Given the description of an element on the screen output the (x, y) to click on. 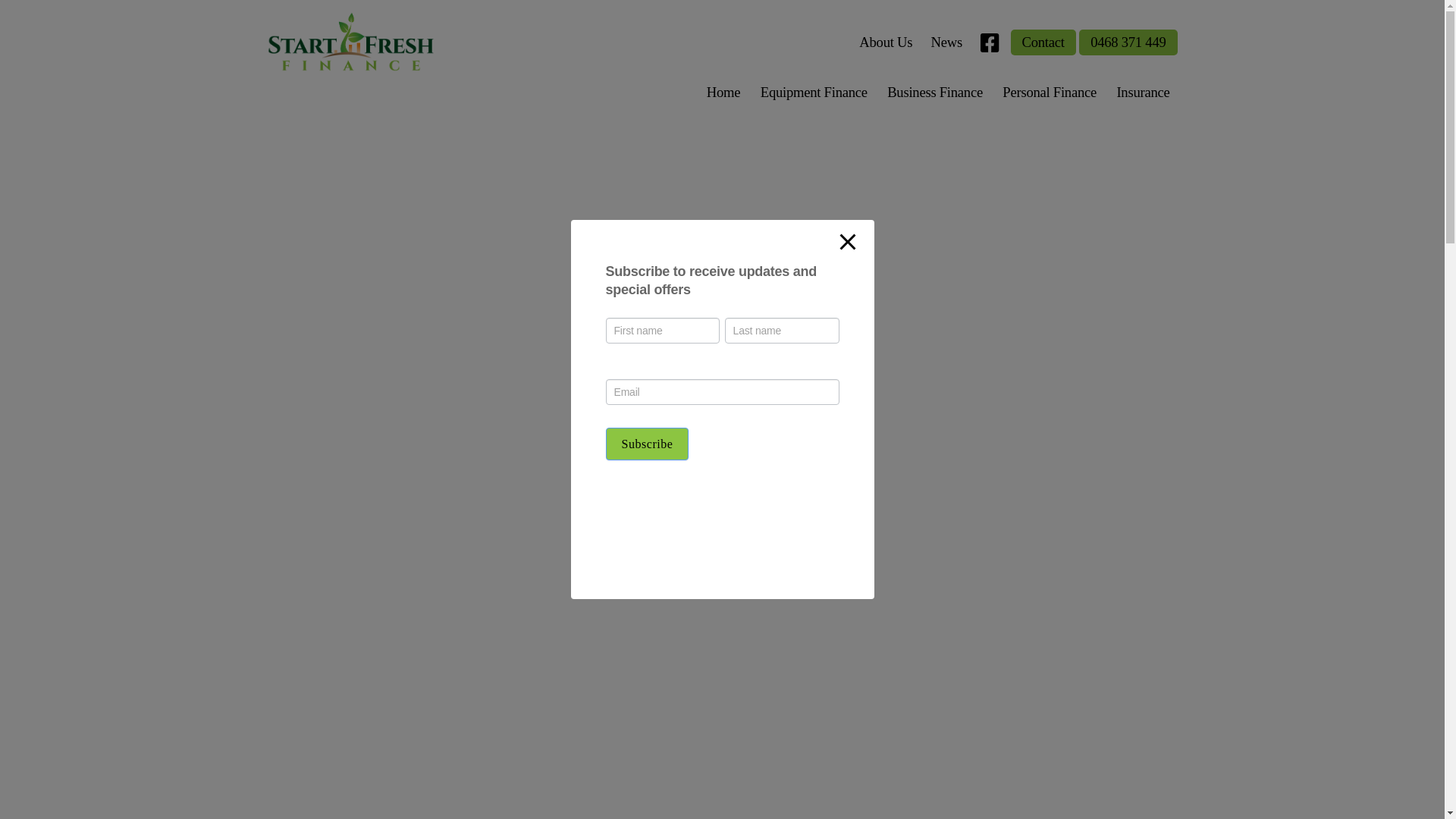
Equipment Finance Element type: text (814, 92)
Personal Finance Element type: text (1049, 92)
Business Finance Element type: text (934, 92)
0468 371 449 Element type: text (1127, 42)
Home Element type: text (723, 92)
Subscribe Element type: text (646, 443)
News Element type: text (946, 42)
Insurance Element type: text (1142, 92)
About Us Element type: text (885, 42)
Contact Element type: text (1043, 42)
